Given the description of an element on the screen output the (x, y) to click on. 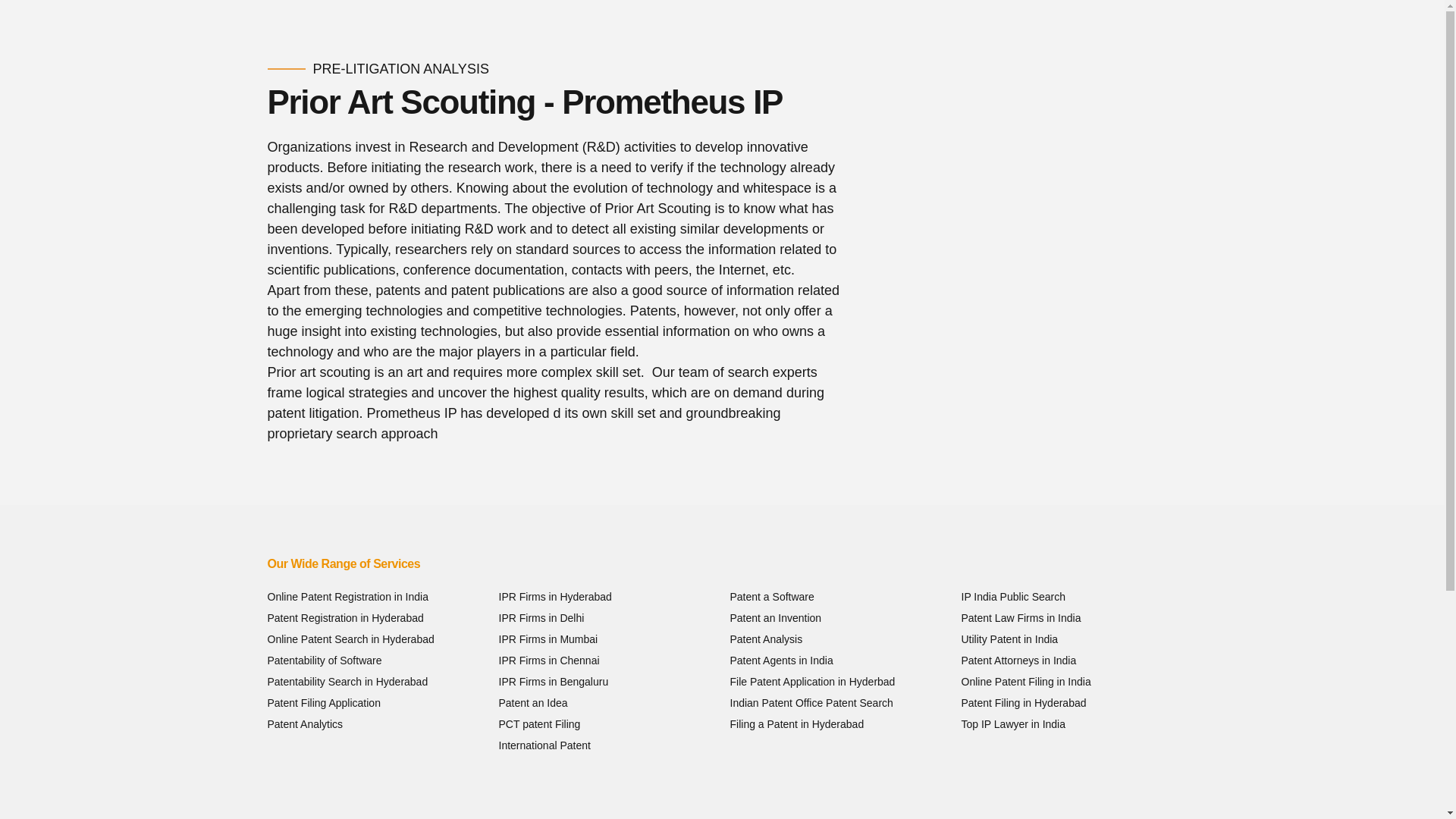
IPR Firms in Mumbai (548, 638)
Patent Registration in Hyderabad (344, 617)
IPR Firms in Delhi (542, 617)
IPR Firms in Bengaluru (553, 681)
IPR Firms in Hyderabad (555, 596)
IPR Firms in Chennai (549, 660)
Patentability of Software (323, 660)
Online Patent Registration in India (347, 596)
PRE-LITIGATION ANALYSIS (400, 68)
Online Patent Search in Hyderabad (349, 638)
Patentability Search in Hyderabad (347, 681)
Online Patent Search in Hyderabad (349, 638)
Patent an Idea (533, 702)
Online Patent Registration in India (347, 596)
Patent Filing Application (323, 702)
